Given the description of an element on the screen output the (x, y) to click on. 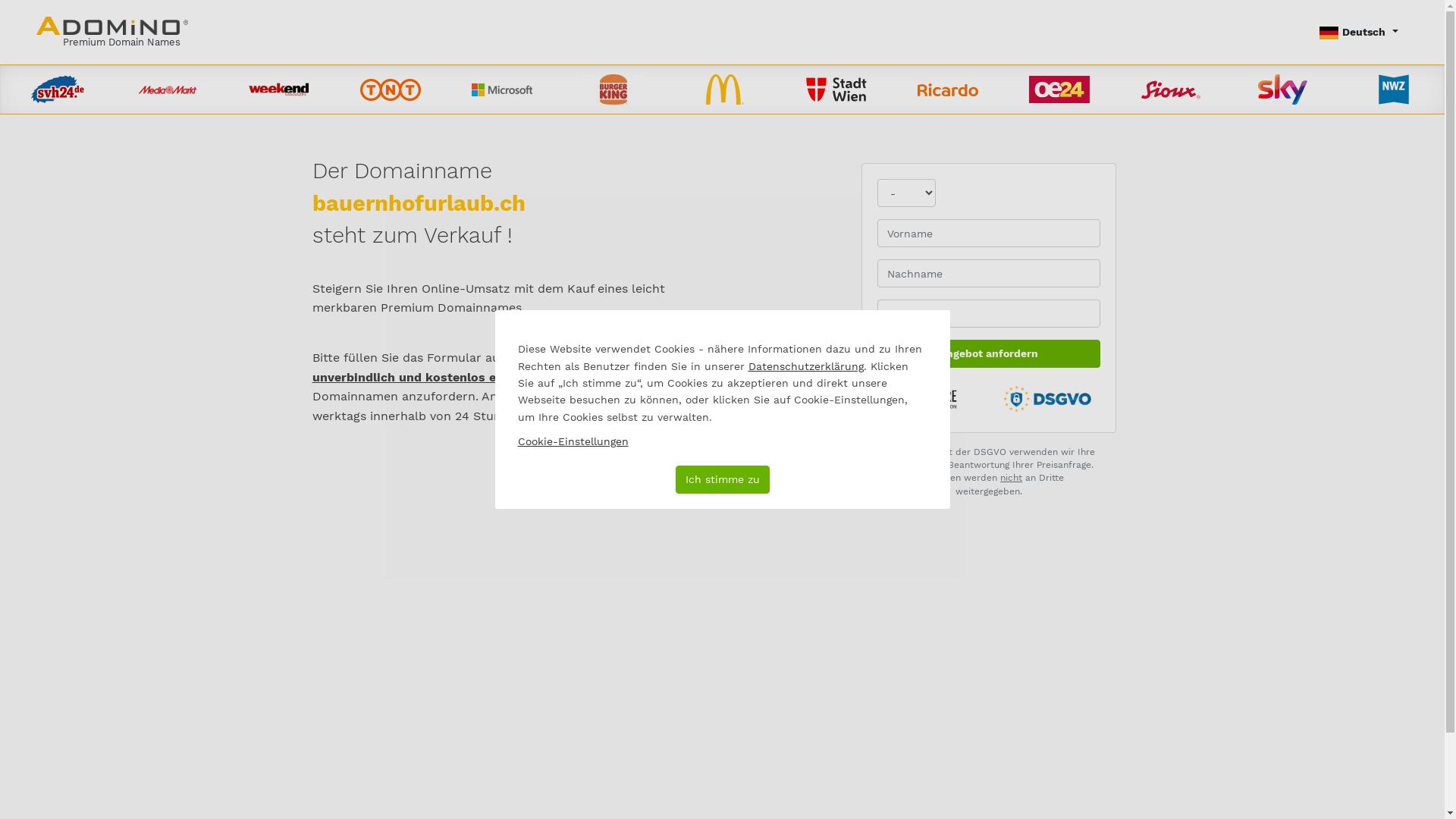
Ich stimme zu Element type: text (721, 479)
Angebot anfordern Element type: text (989, 353)
Deutsch Element type: text (1358, 32)
Cookie-Einstellungen Element type: text (572, 441)
Premium Domain Names Element type: text (112, 31)
